Given the description of an element on the screen output the (x, y) to click on. 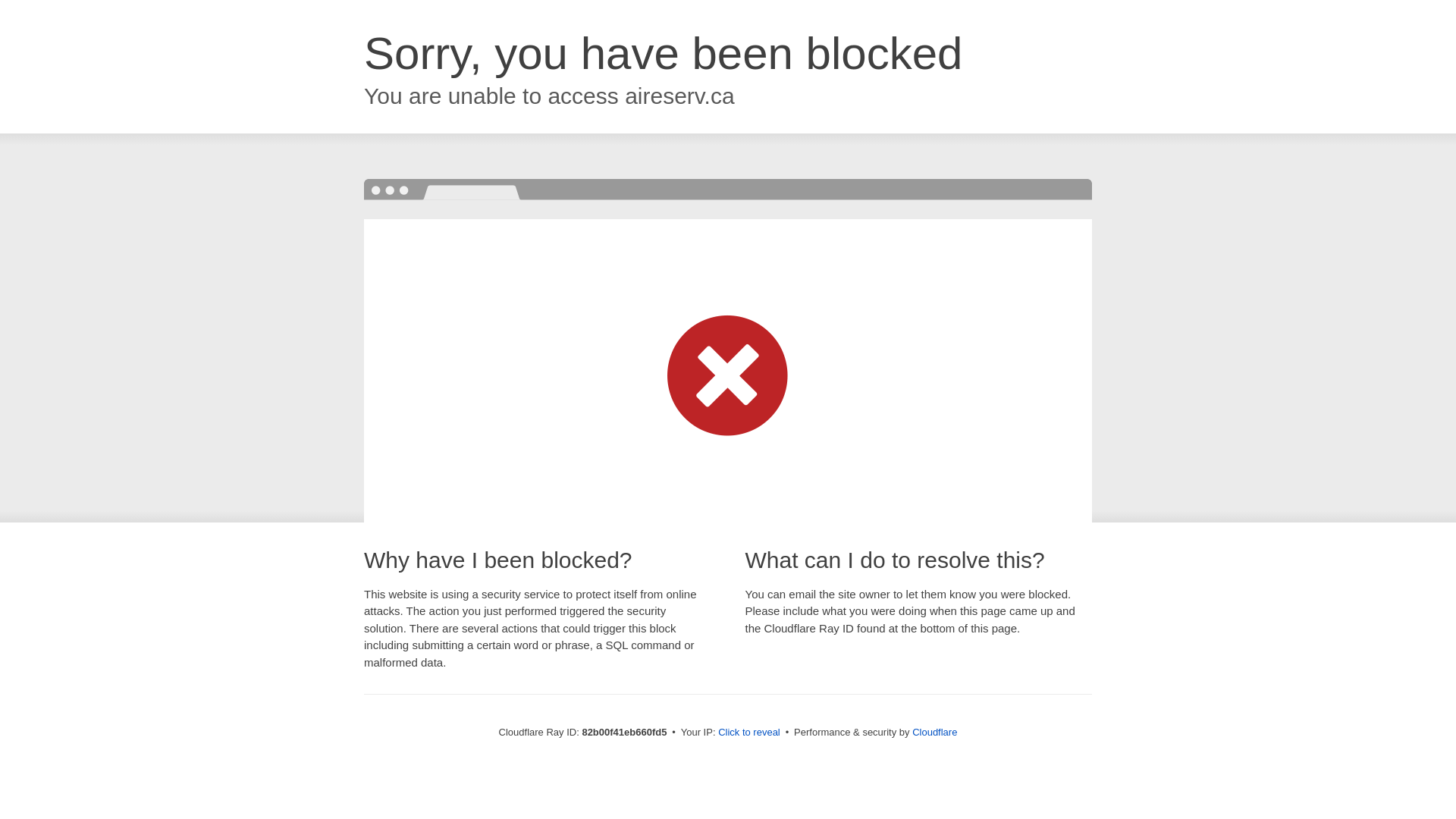
Cloudflare Element type: text (934, 731)
Click to reveal Element type: text (749, 732)
